Given the description of an element on the screen output the (x, y) to click on. 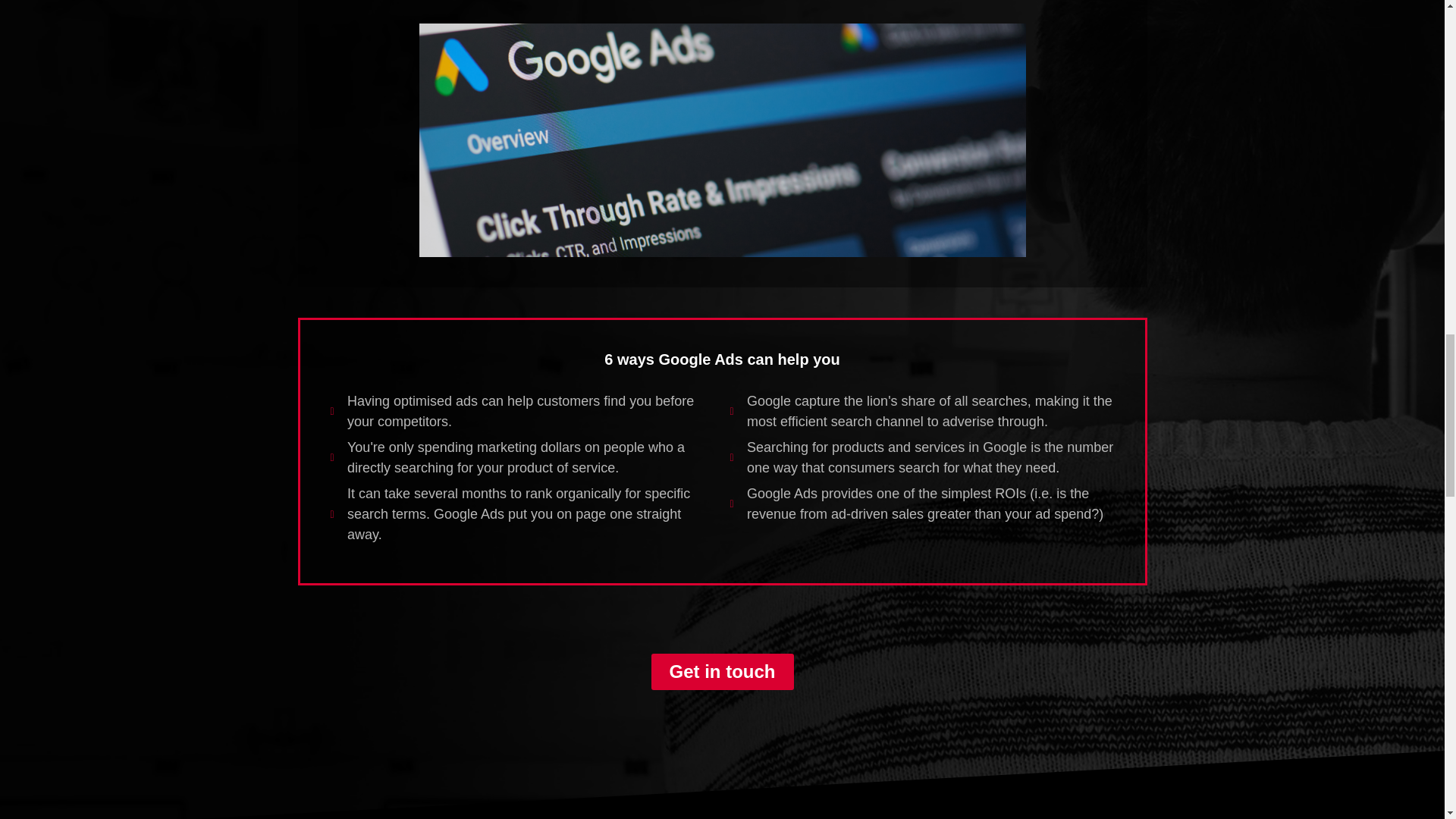
Get in touch (721, 671)
